Given the description of an element on the screen output the (x, y) to click on. 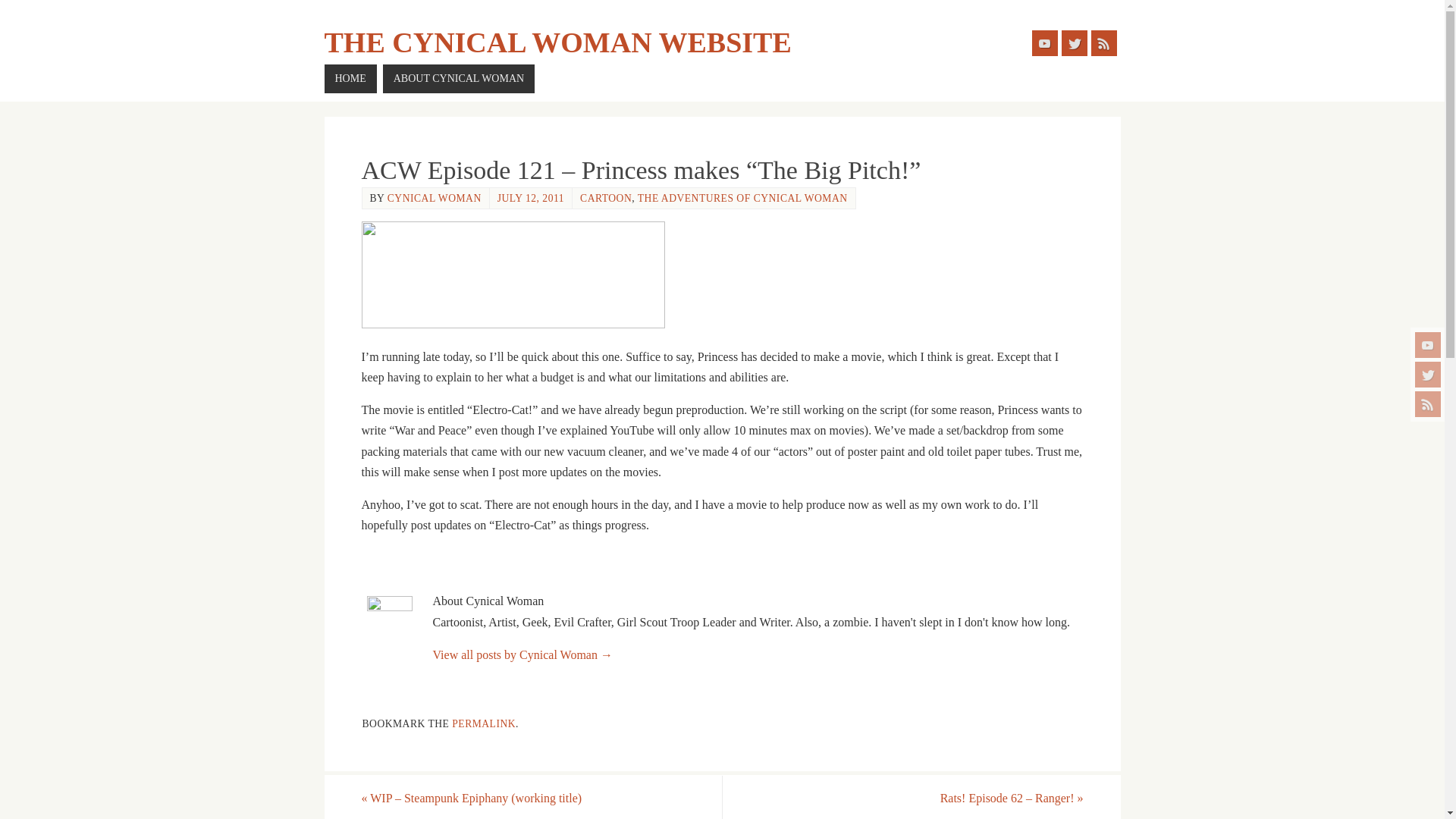
PERMALINK (483, 723)
View all posts by Cynical Woman (434, 197)
YouTube (1043, 43)
ABOUT CYNICAL WOMAN (458, 78)
Twitter (1428, 374)
THE CYNICAL WOMAN WEBSITE (558, 42)
CARTOON (605, 197)
YouTube (1428, 344)
RSS (1428, 403)
Twitter (1074, 43)
